Given the description of an element on the screen output the (x, y) to click on. 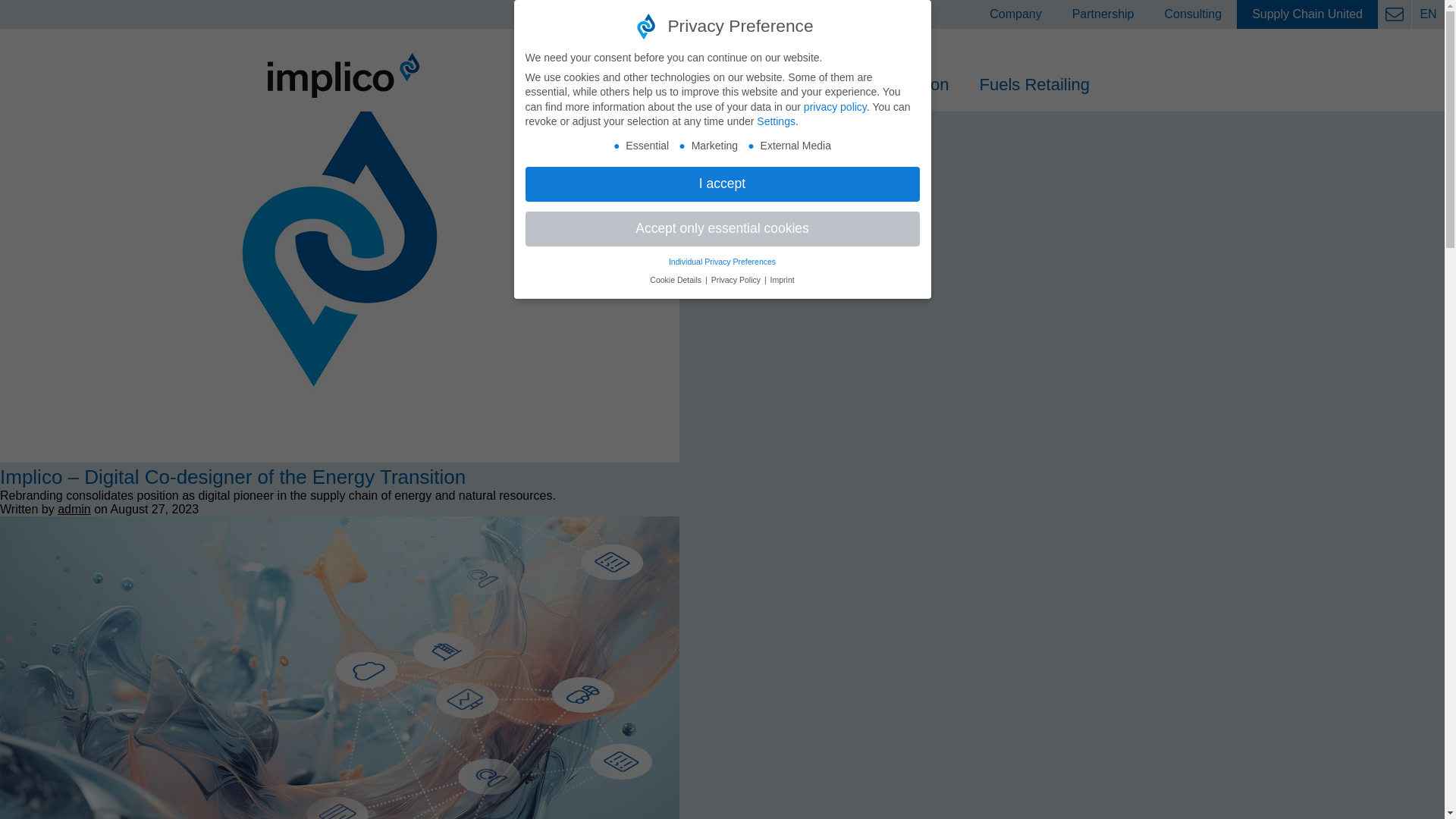
Company (1015, 14)
Fuels Retailing (1034, 84)
Consulting (1193, 14)
Terminal Management (667, 84)
Partnership (1103, 14)
Posts by admin (74, 508)
Supply Chain United (1306, 14)
Secondary Distribution (864, 84)
